Given the description of an element on the screen output the (x, y) to click on. 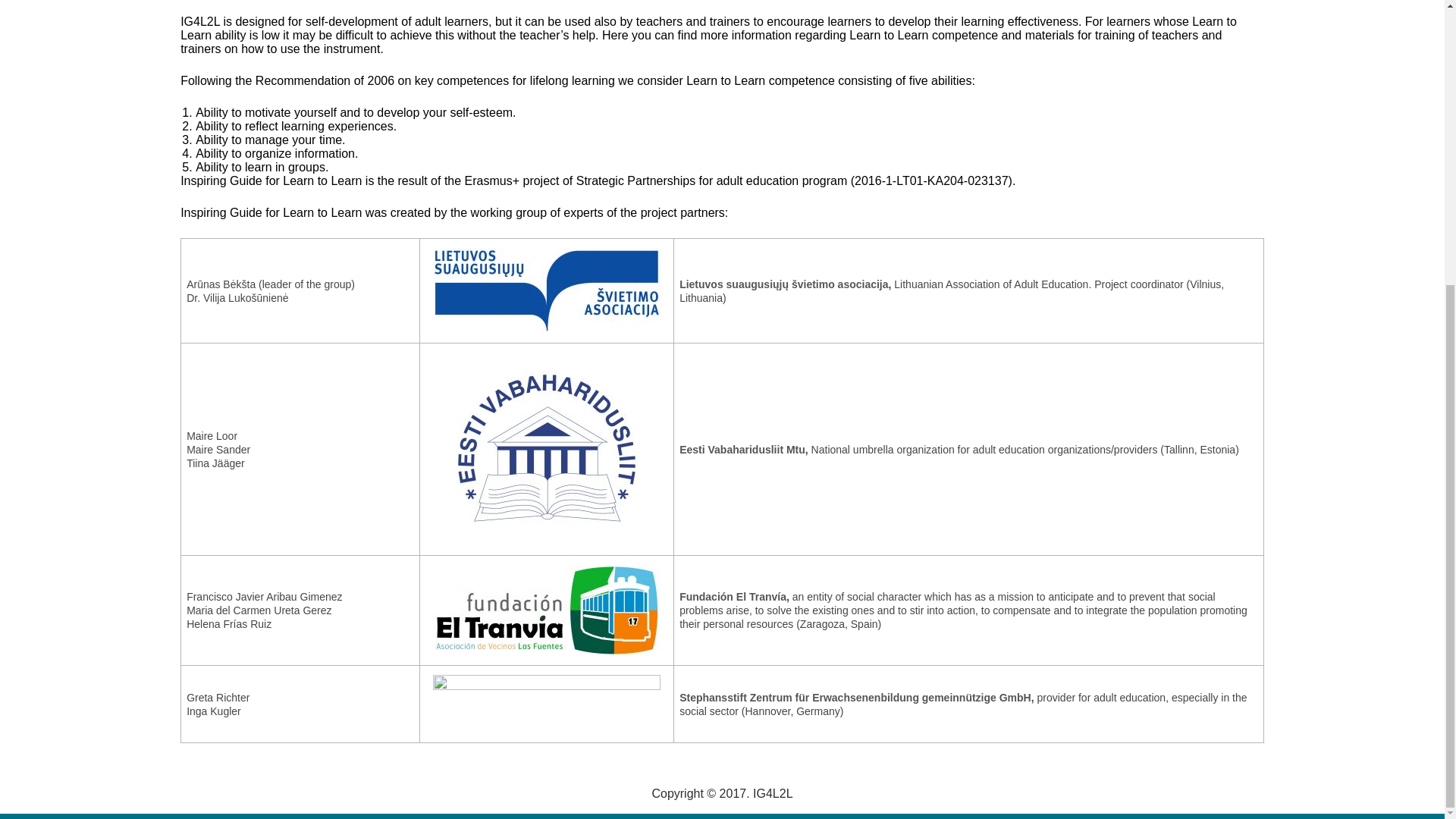
Eesti Vabaharidusliit Mtu (742, 449)
